Given the description of an element on the screen output the (x, y) to click on. 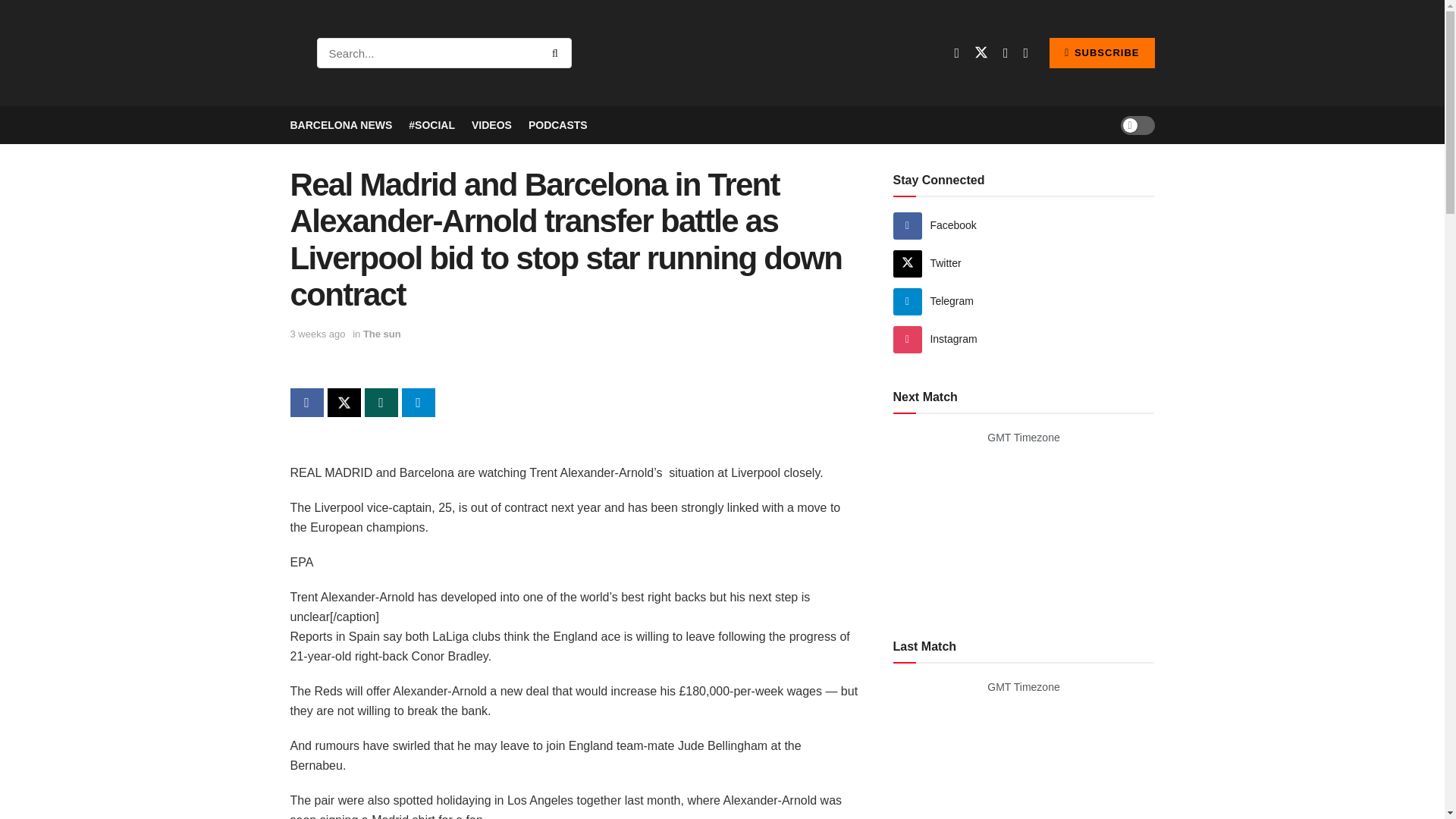
SUBSCRIBE (1101, 52)
3 weeks ago (317, 333)
The sun (381, 333)
BARCELONA NEWS (340, 125)
PODCASTS (558, 125)
VIDEOS (491, 125)
